Given the description of an element on the screen output the (x, y) to click on. 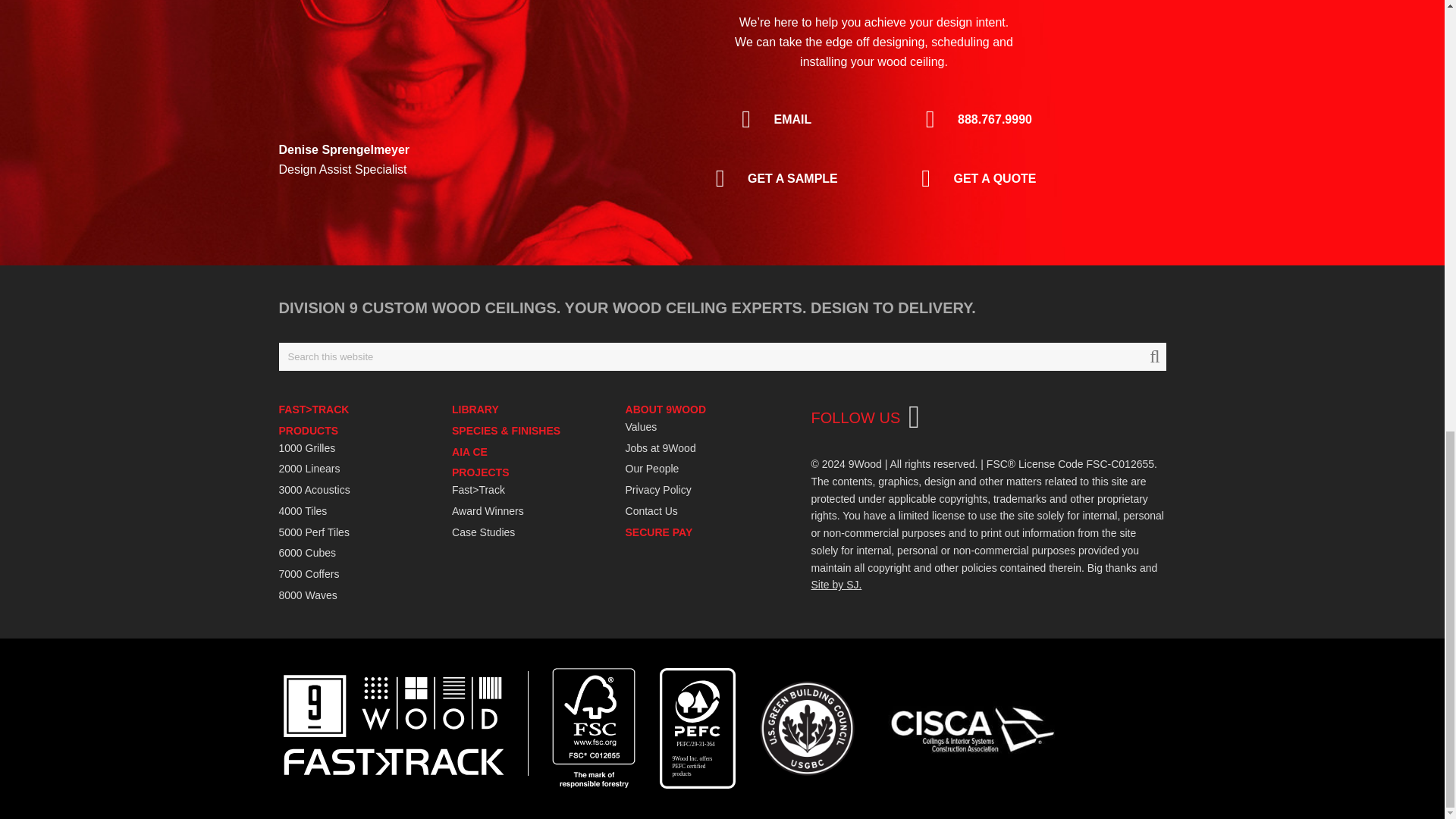
General Contact (772, 119)
Request a Quote (974, 178)
Get a Sample (772, 178)
